Given the description of an element on the screen output the (x, y) to click on. 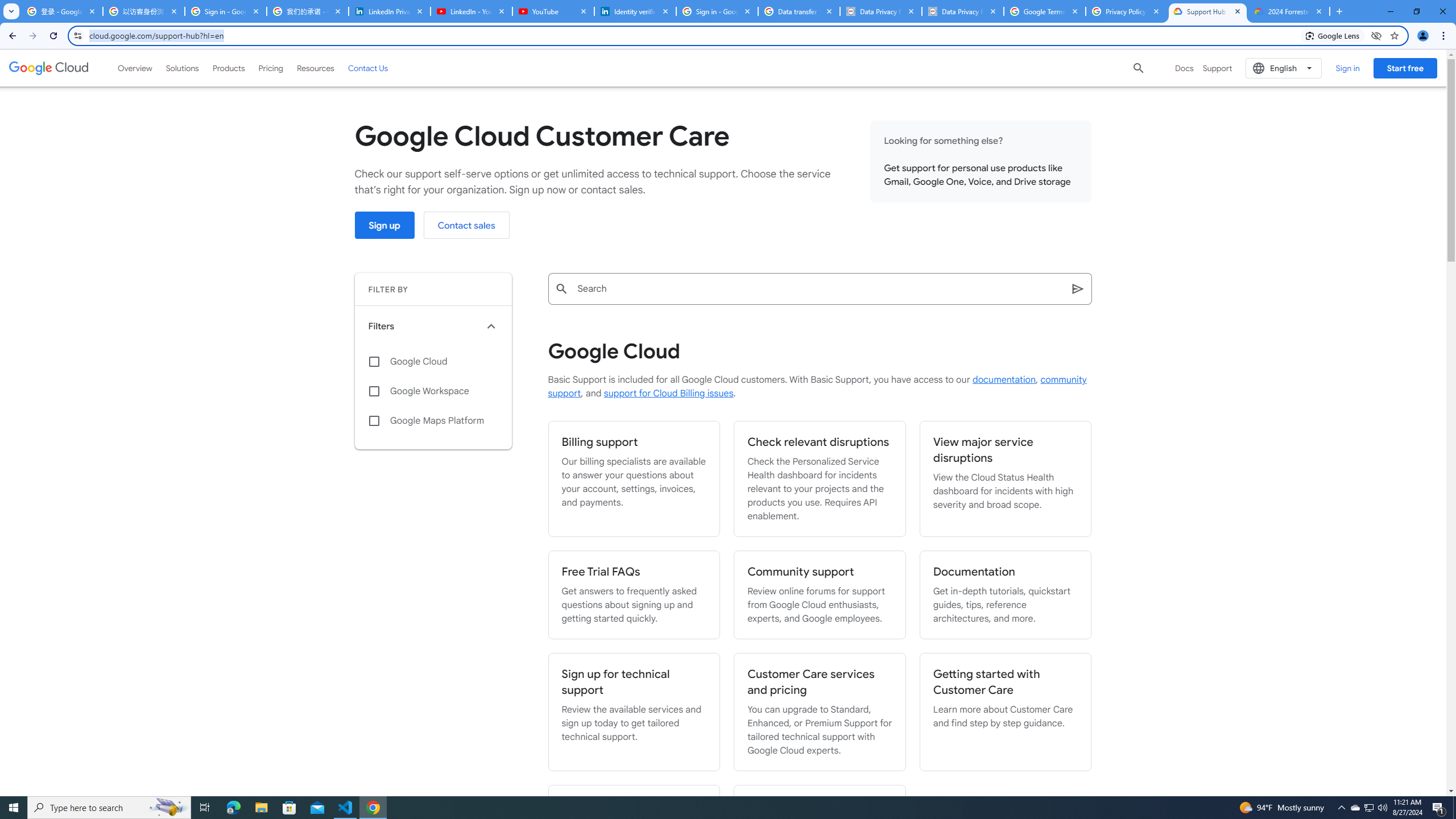
Data Privacy Framework (880, 11)
